Given the description of an element on the screen output the (x, y) to click on. 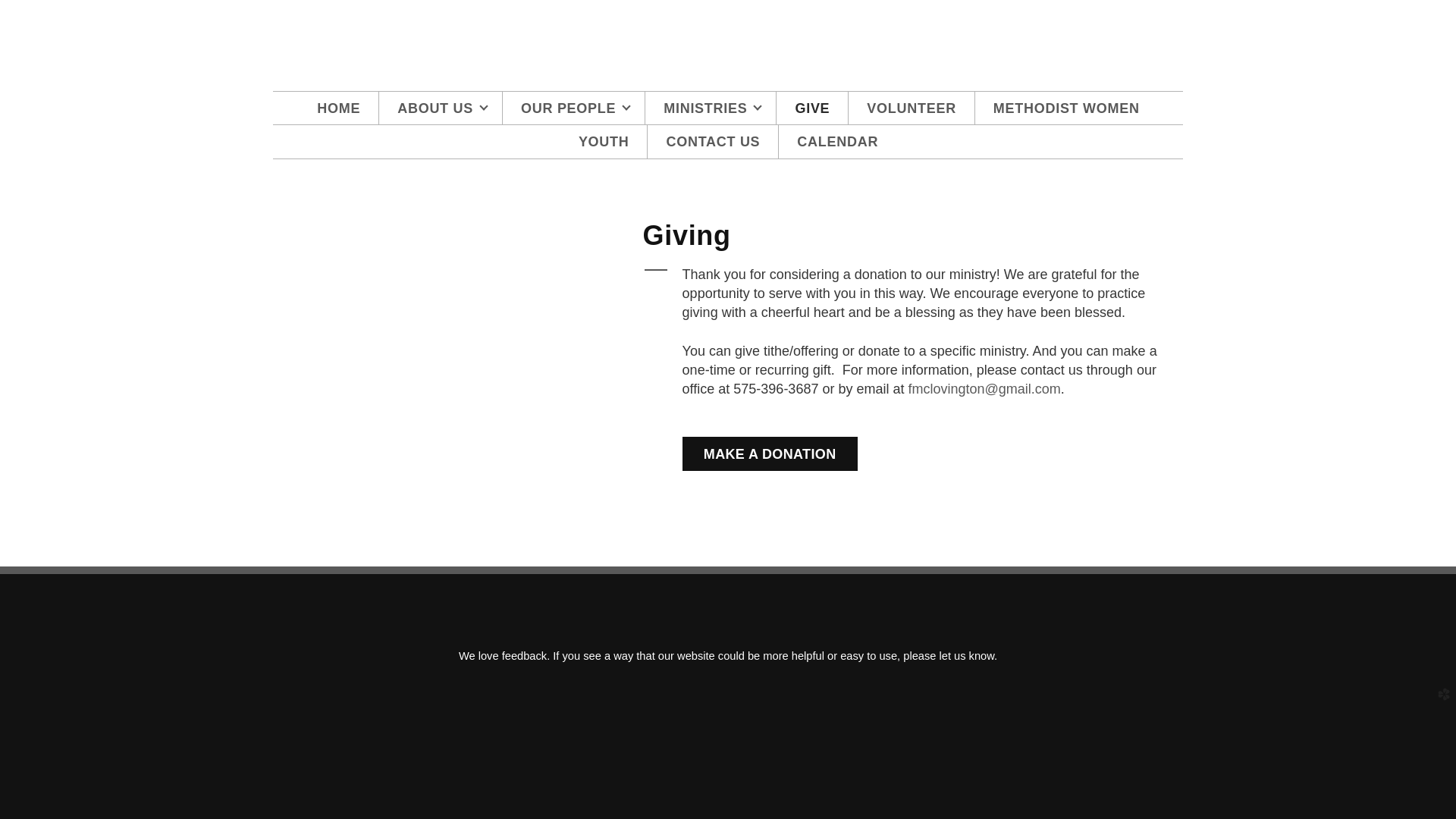
ABOUT US (440, 108)
HOME (338, 108)
OUR PEOPLE (573, 108)
